Given the description of an element on the screen output the (x, y) to click on. 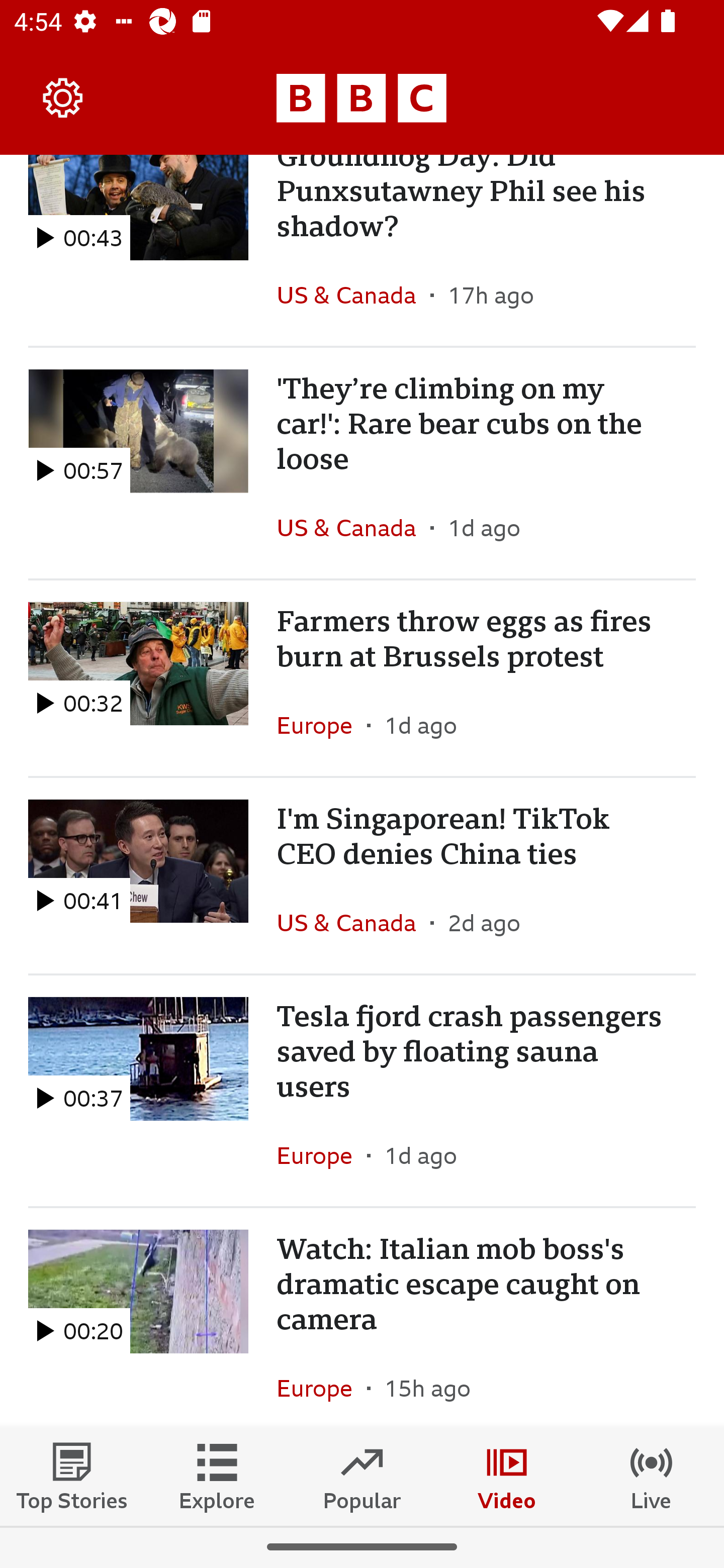
Settings (63, 97)
US & Canada In the section US & Canada (353, 295)
US & Canada In the section US & Canada (353, 527)
Europe In the section Europe (321, 725)
US & Canada In the section US & Canada (353, 922)
Europe In the section Europe (321, 1154)
Europe In the section Europe (321, 1381)
Top Stories (72, 1475)
Explore (216, 1475)
Popular (361, 1475)
Live (651, 1475)
